Given the description of an element on the screen output the (x, y) to click on. 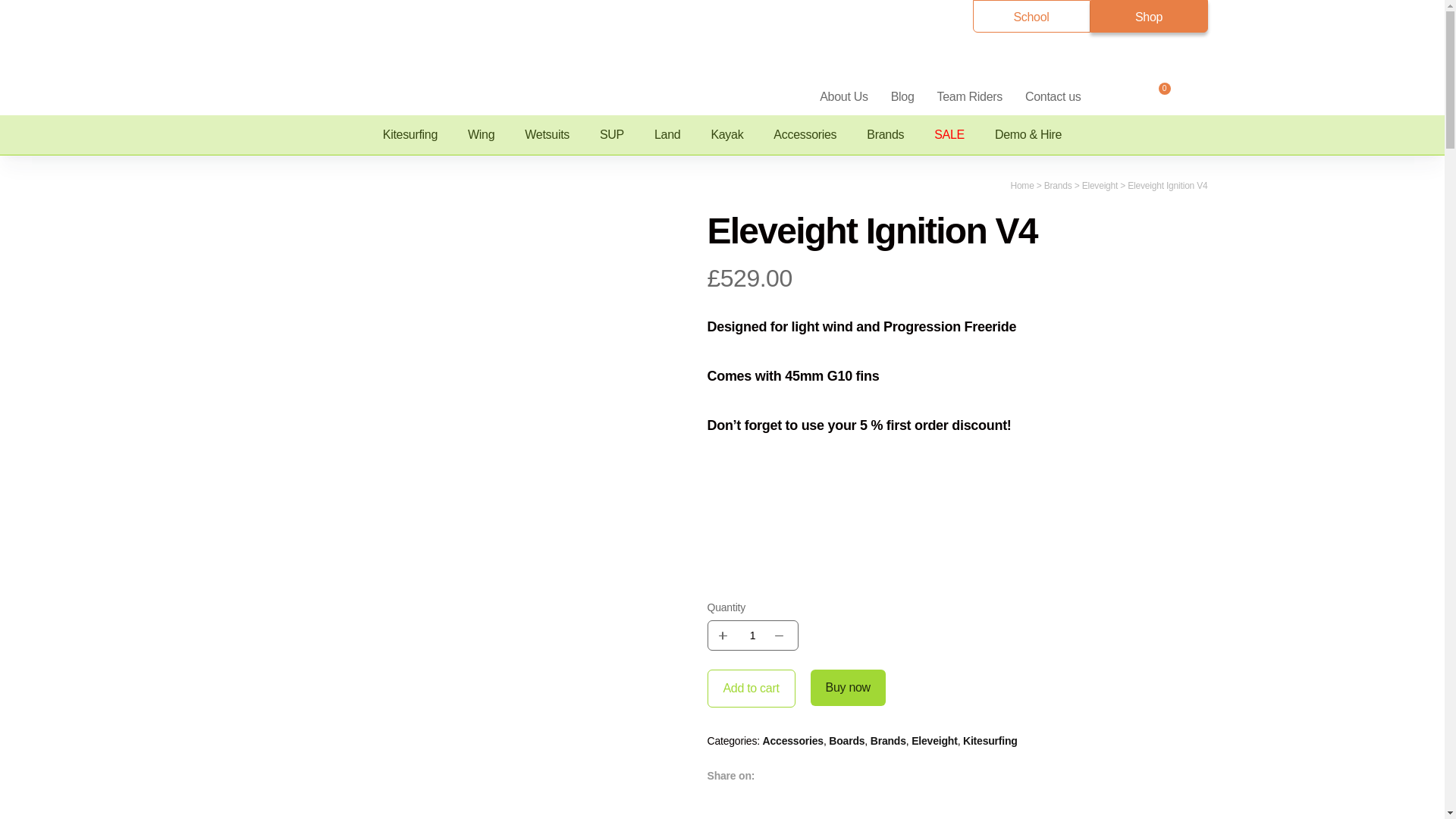
Share - LinkedIn (854, 773)
Team Riders (970, 96)
Wing (480, 134)
Kitesurfing (410, 134)
SUP (612, 134)
1 (751, 634)
Land (667, 134)
About Us (843, 96)
School (1030, 16)
Search (1115, 95)
